Given the description of an element on the screen output the (x, y) to click on. 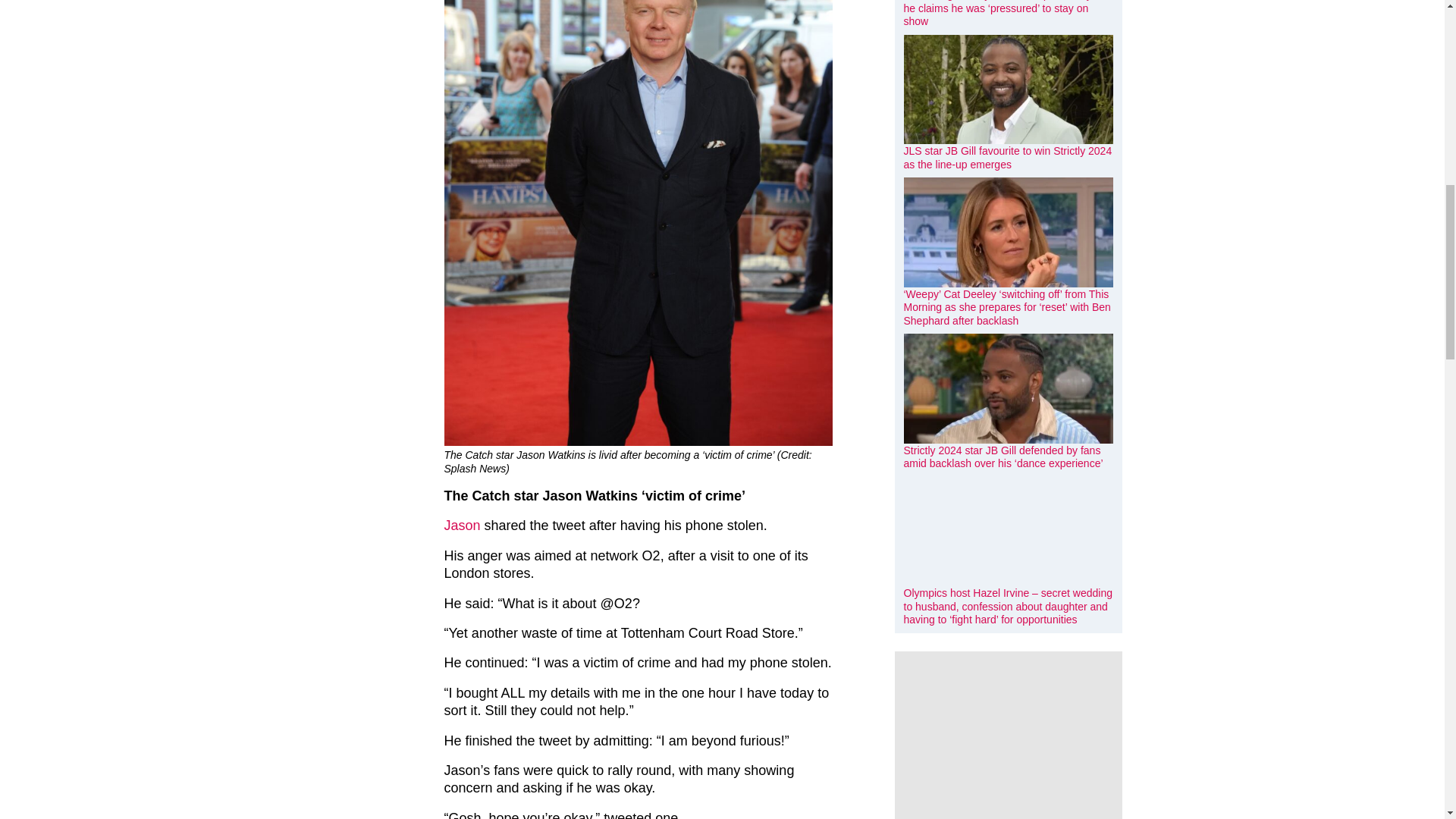
Jason (462, 525)
